Given the description of an element on the screen output the (x, y) to click on. 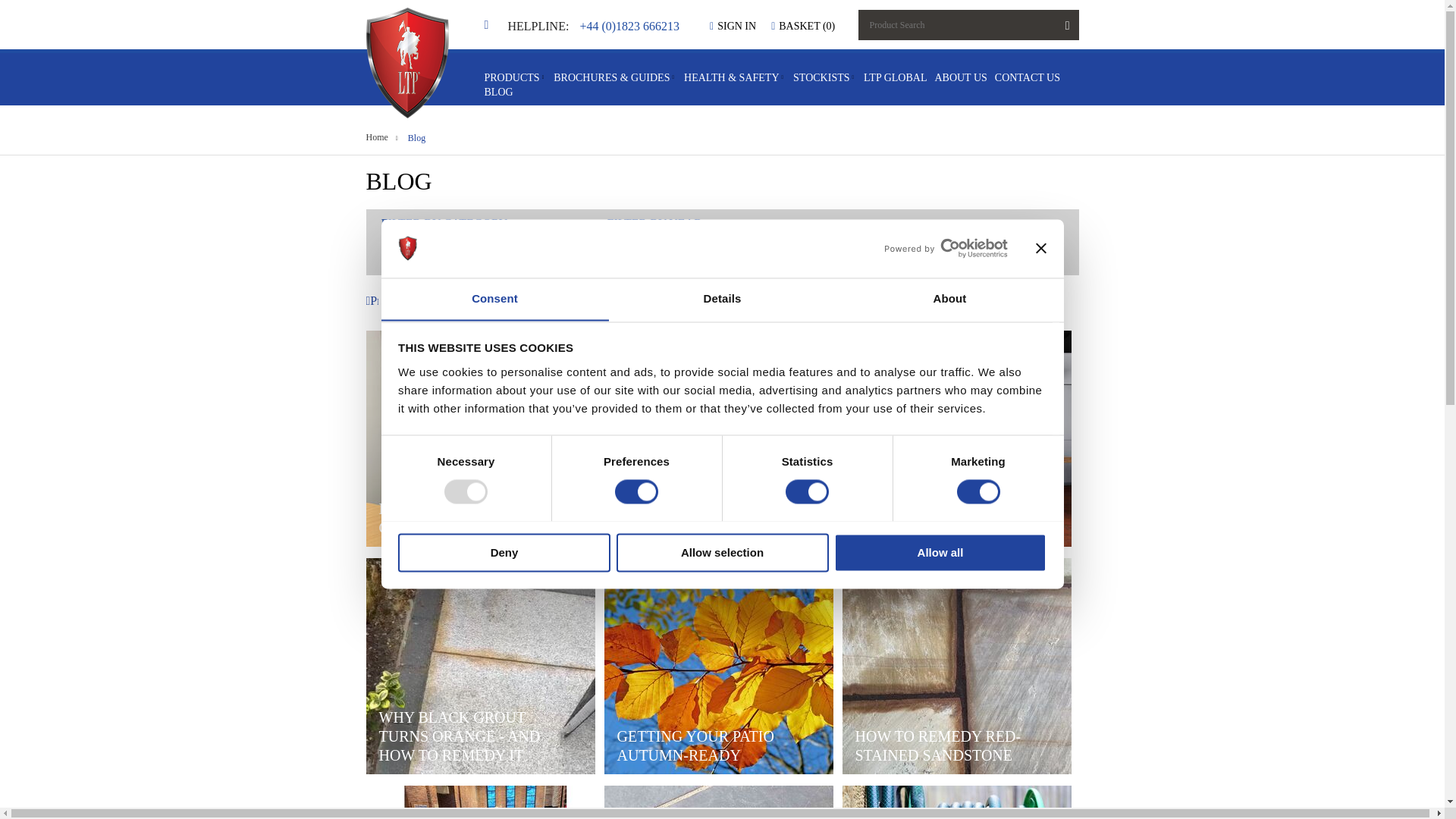
Sign In (732, 25)
SIGN IN (732, 25)
Details (721, 299)
Allow selection (721, 552)
Consent (494, 299)
Products (510, 77)
Home (489, 24)
Deny (503, 552)
Allow all (940, 552)
About (948, 299)
